Given the description of an element on the screen output the (x, y) to click on. 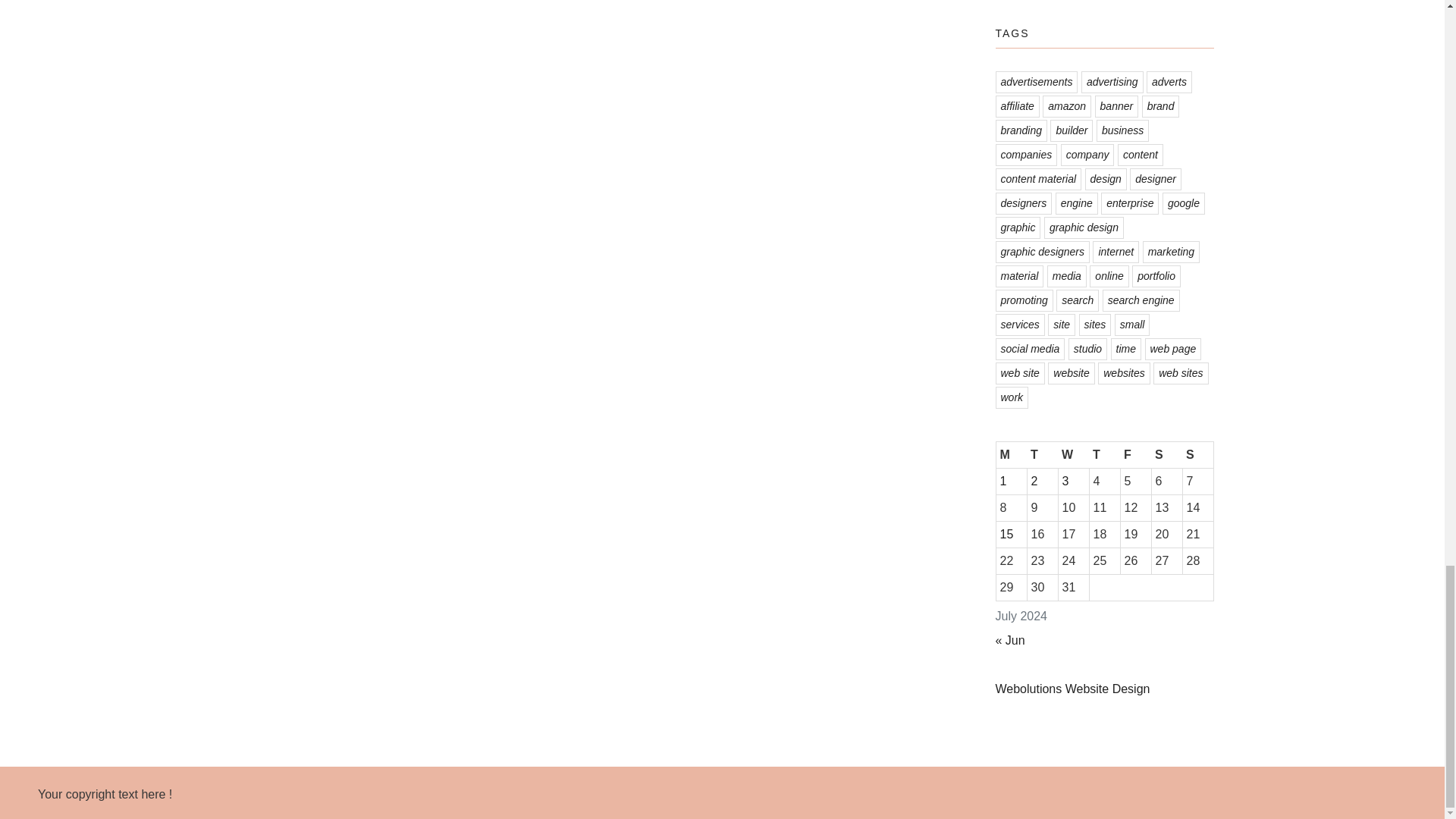
Saturday (1166, 454)
Wednesday (1073, 454)
Tuesday (1042, 454)
Monday (1010, 454)
Sunday (1197, 454)
Friday (1135, 454)
Thursday (1104, 454)
